Given the description of an element on the screen output the (x, y) to click on. 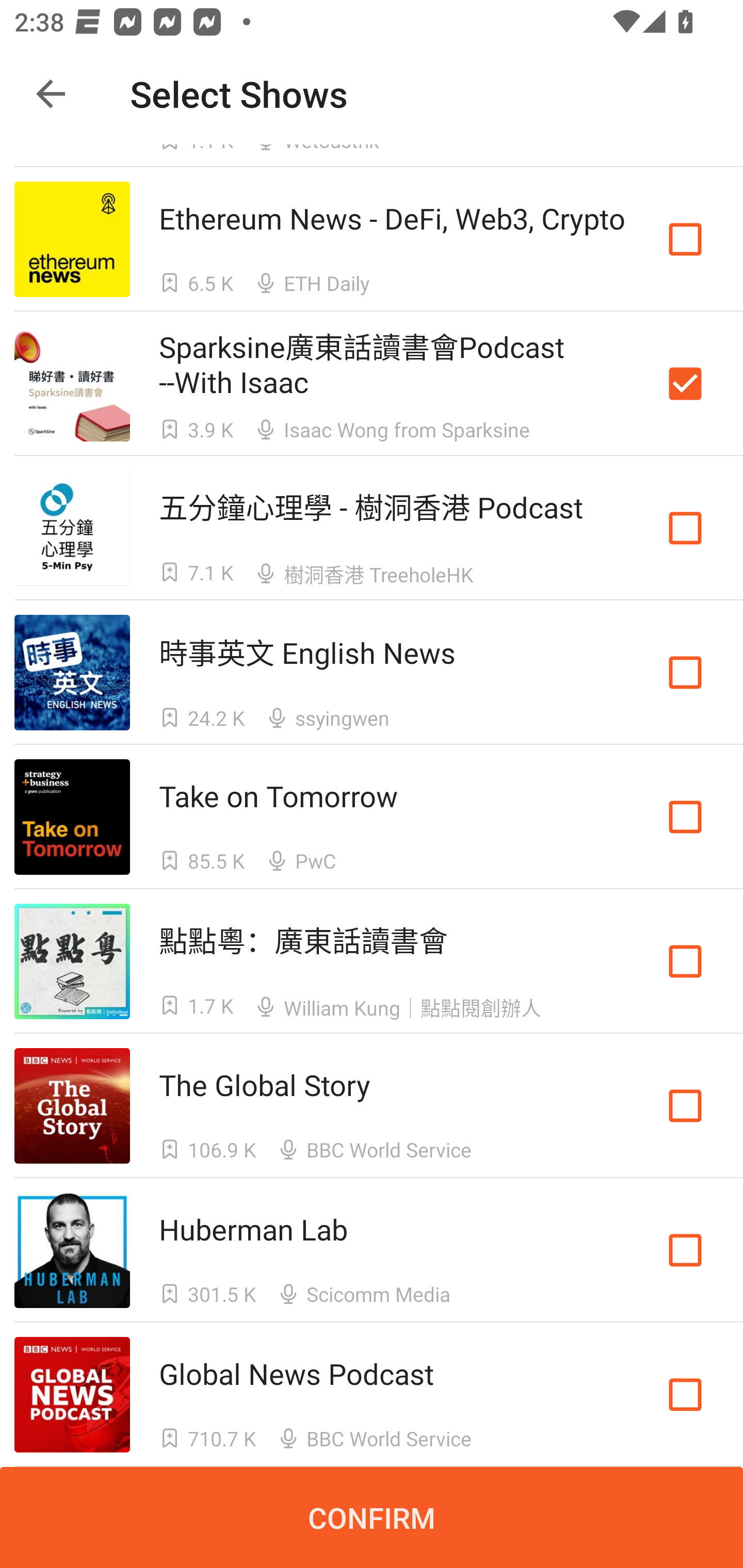
Navigate up (50, 93)
Take on Tomorrow Take on Tomorrow  85.5 K  PwC (371, 816)
CONFIRM (371, 1517)
